Given the description of an element on the screen output the (x, y) to click on. 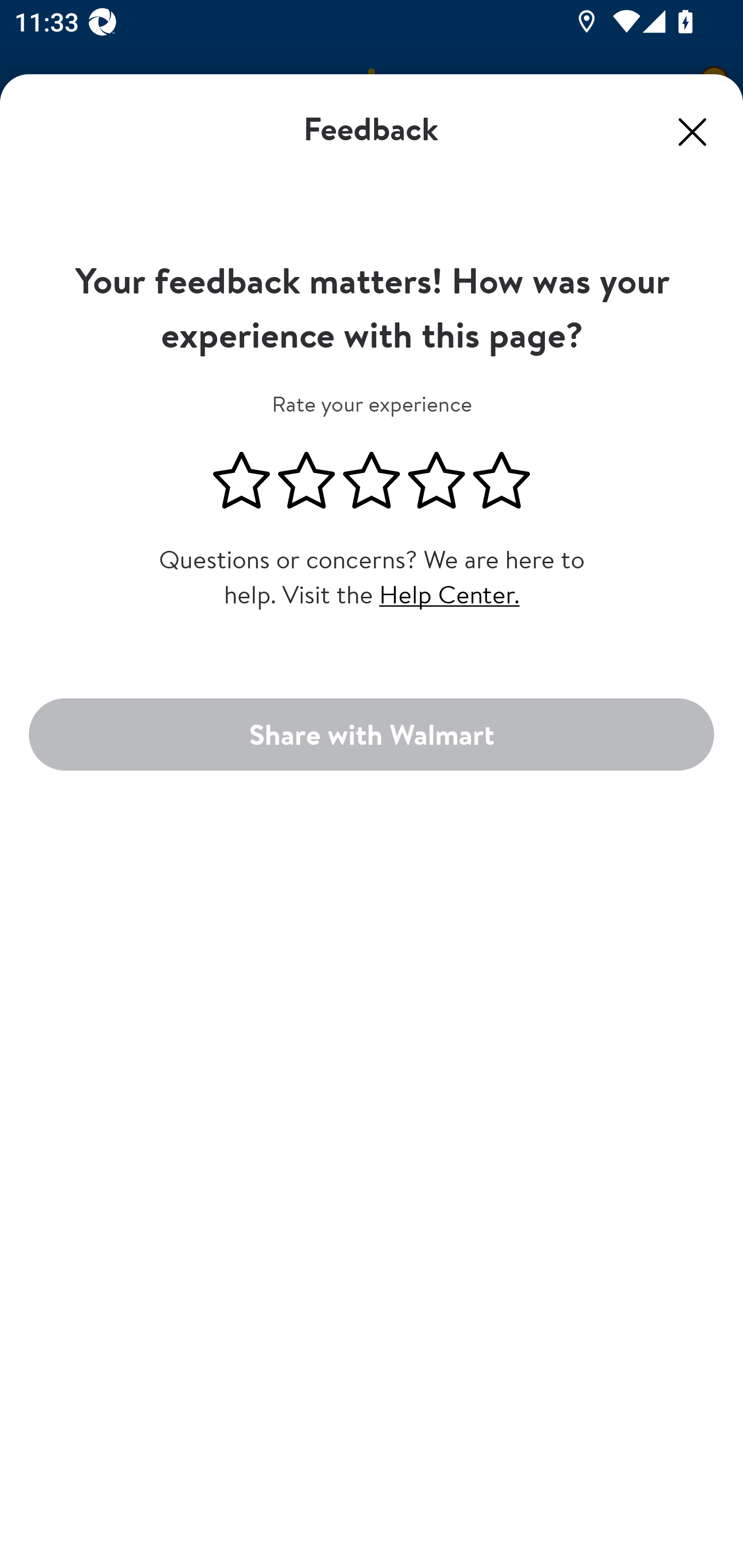
Close (692, 131)
1 out of 5 stars, not selected (241, 480)
2 out of 5 stars, not selected (306, 480)
3 out of 5 stars, not selected (371, 480)
4 out of 5 stars, not selected (436, 480)
5 out of 5 stars, not selected (501, 480)
Share with Walmart (371, 733)
